Given the description of an element on the screen output the (x, y) to click on. 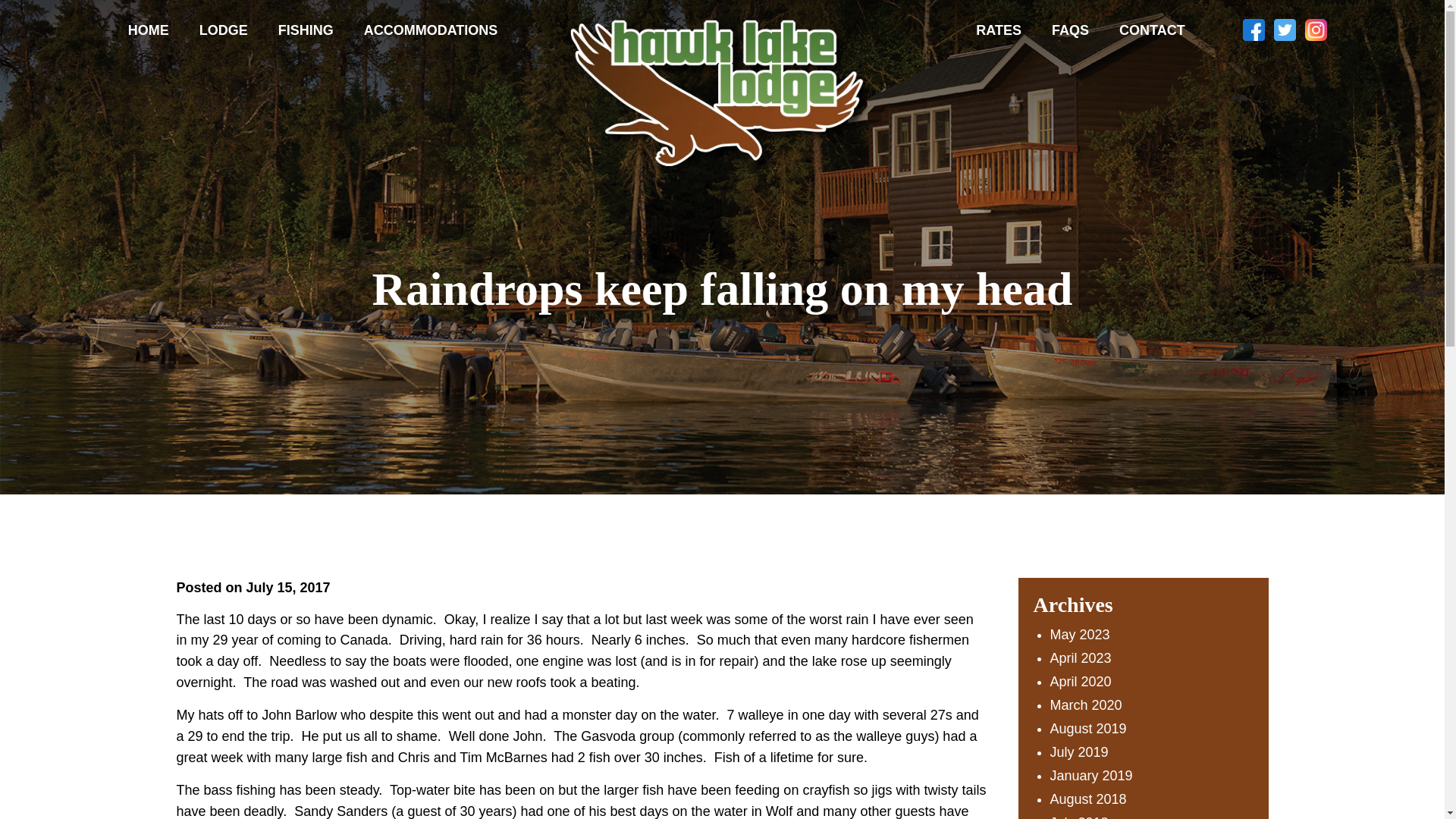
ACCOMMODATIONS (431, 31)
May 2023 (1079, 634)
FISHING (306, 31)
FAQS (1069, 31)
HOME (148, 31)
CONTACT (1151, 31)
April 2023 (1079, 657)
RATES (998, 31)
LODGE (223, 31)
